Given the description of an element on the screen output the (x, y) to click on. 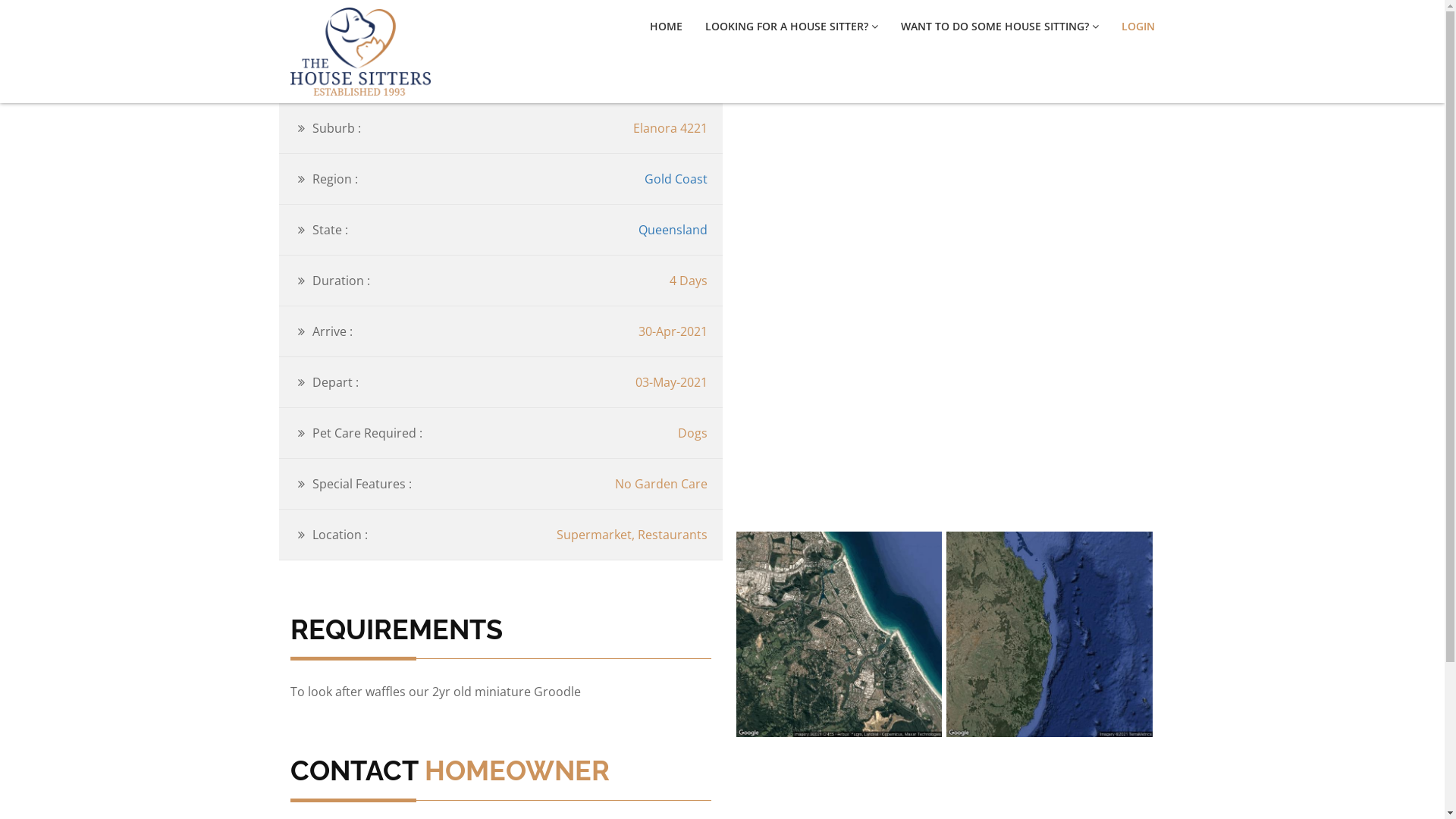
HOME Element type: text (665, 26)
Gold Coast Element type: text (675, 178)
Queensland Element type: text (672, 229)
WANT TO DO SOME HOUSE SITTING? Element type: text (999, 26)
LOOKING FOR A HOUSE SITTER? Element type: text (791, 26)
LOGIN Element type: text (1137, 26)
